Given the description of an element on the screen output the (x, y) to click on. 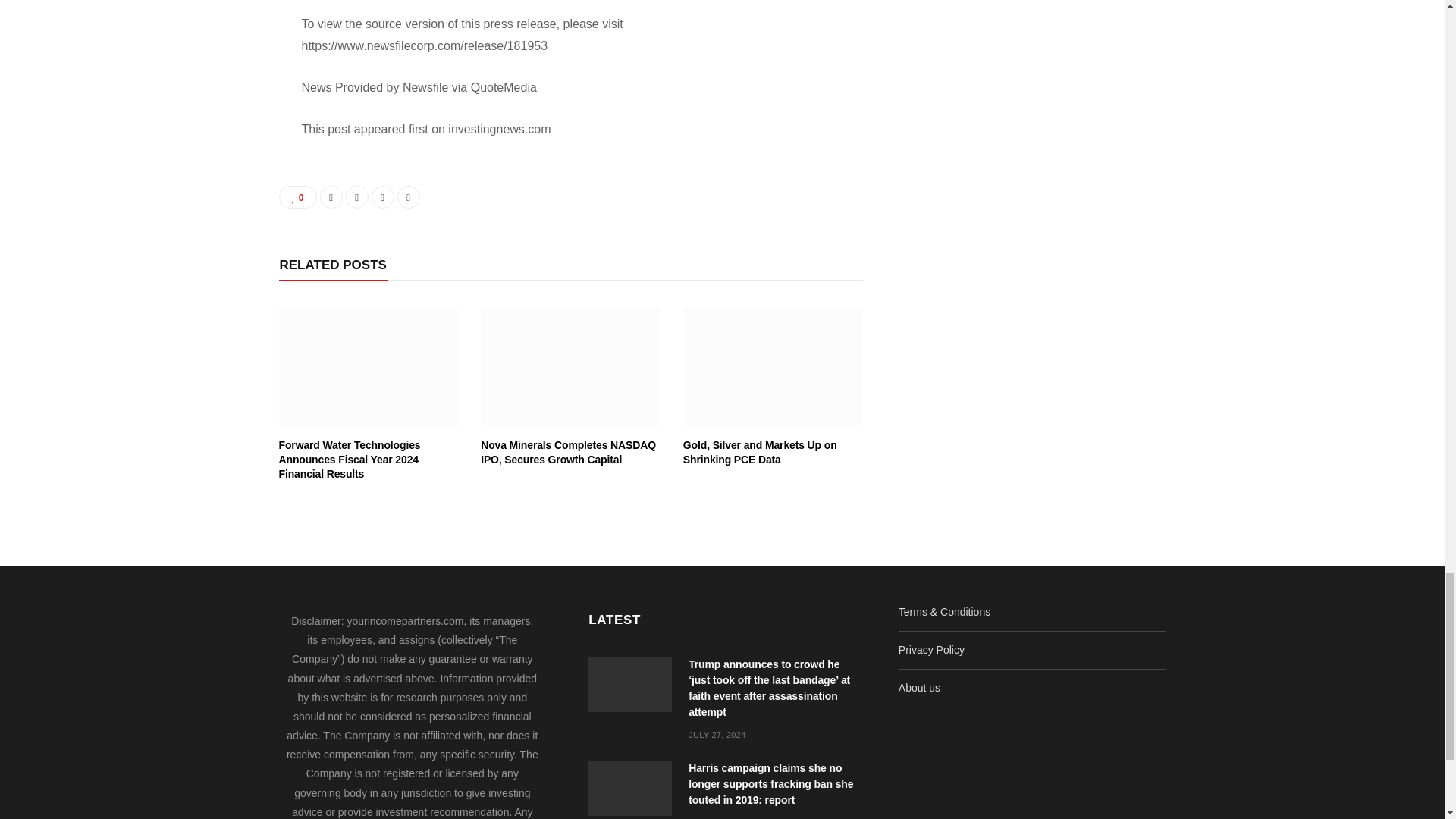
Nova Minerals Completes NASDAQ IPO, Secures Growth Capital (568, 452)
0 (298, 196)
